Given the description of an element on the screen output the (x, y) to click on. 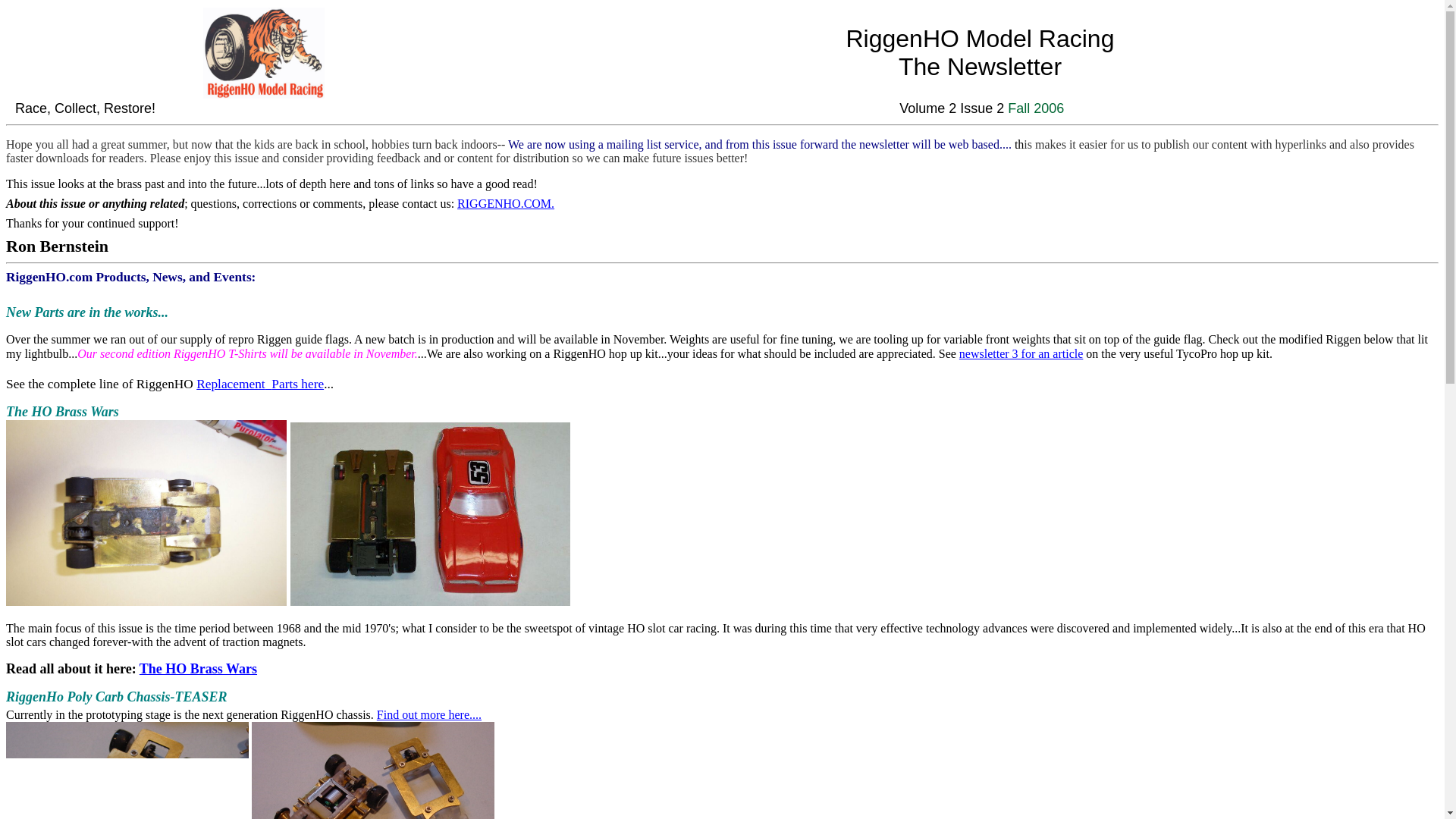
newsletter 3 for an article (1021, 353)
RIGGENHO.COM. (505, 203)
Find out more here.... (429, 714)
Replacement  Parts here (259, 383)
The HO Brass Wars (198, 668)
